Given the description of an element on the screen output the (x, y) to click on. 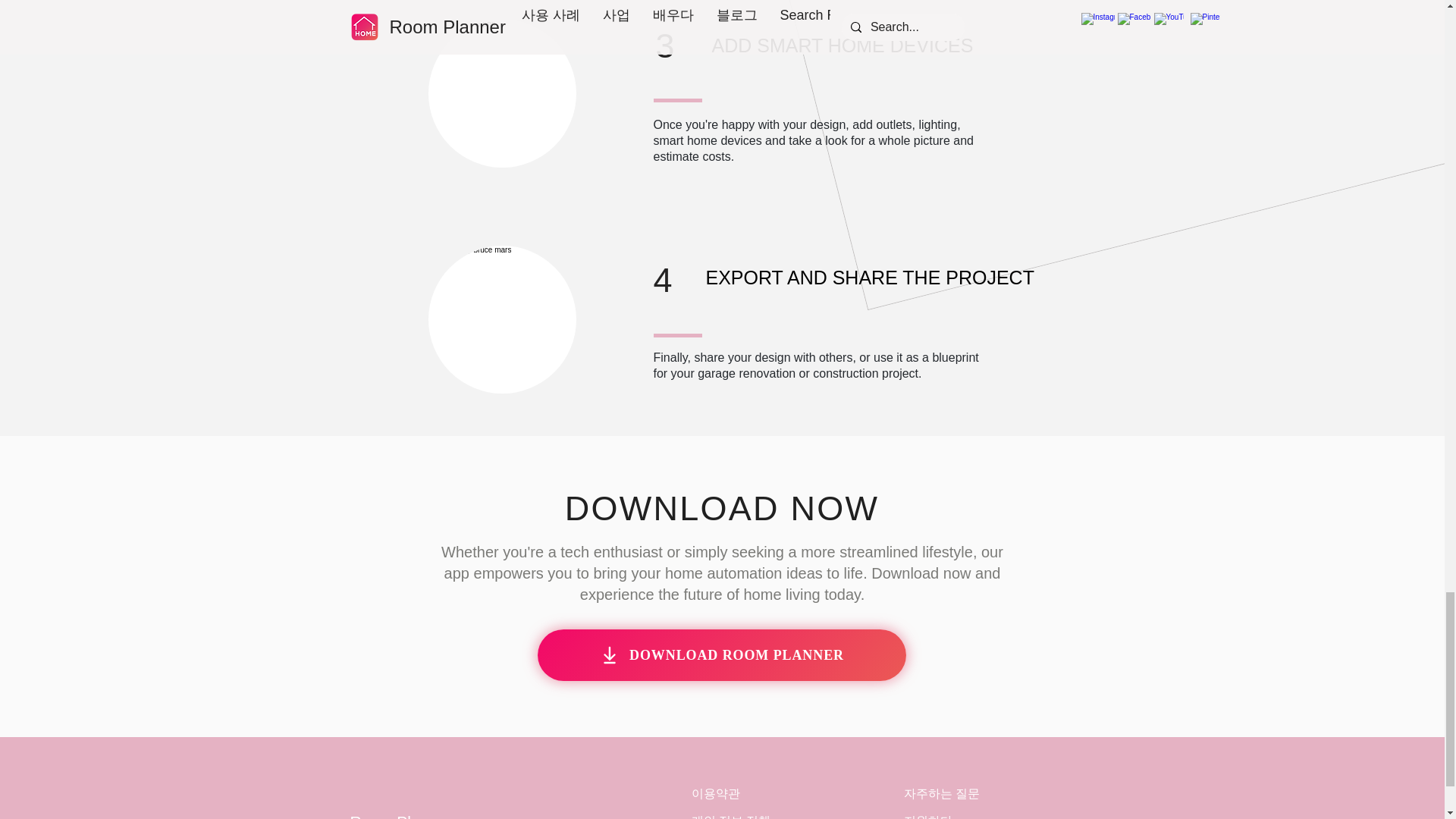
Room Planner (400, 816)
DOWNLOAD ROOM PLANNER (721, 654)
